Given the description of an element on the screen output the (x, y) to click on. 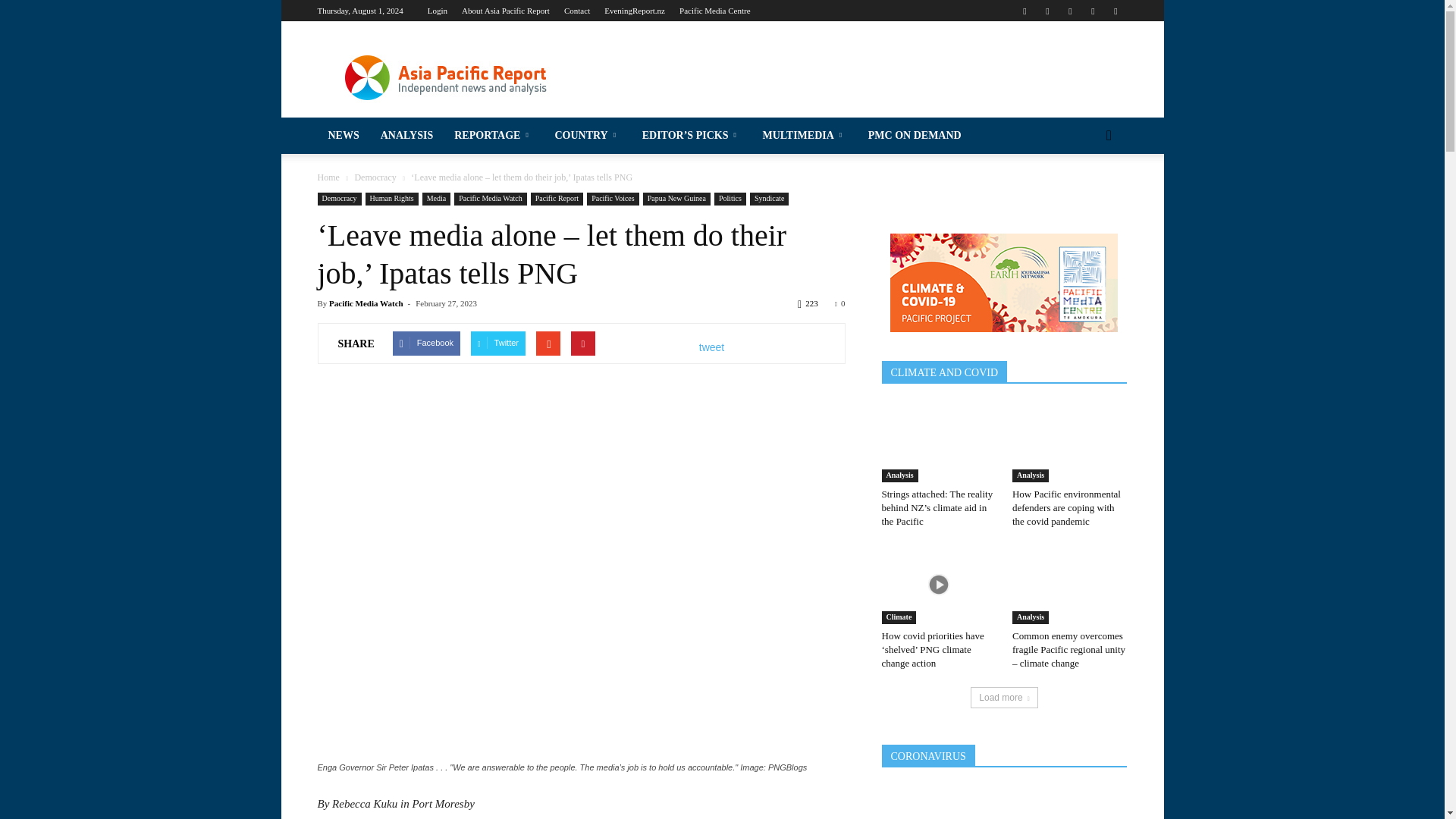
NEWS (140, 57)
ANALYSIS (140, 91)
Timor-Leste (140, 796)
Asia Report (140, 185)
Kiribati (140, 451)
Marshall Islands (140, 480)
Solomon Islands (140, 738)
Tokelau (140, 815)
CLOSE (140, 20)
Pacific Report (140, 157)
RSS (1069, 10)
Rapanui (140, 681)
Youtube (1114, 10)
Cook Islands (140, 364)
Niue (140, 594)
